Given the description of an element on the screen output the (x, y) to click on. 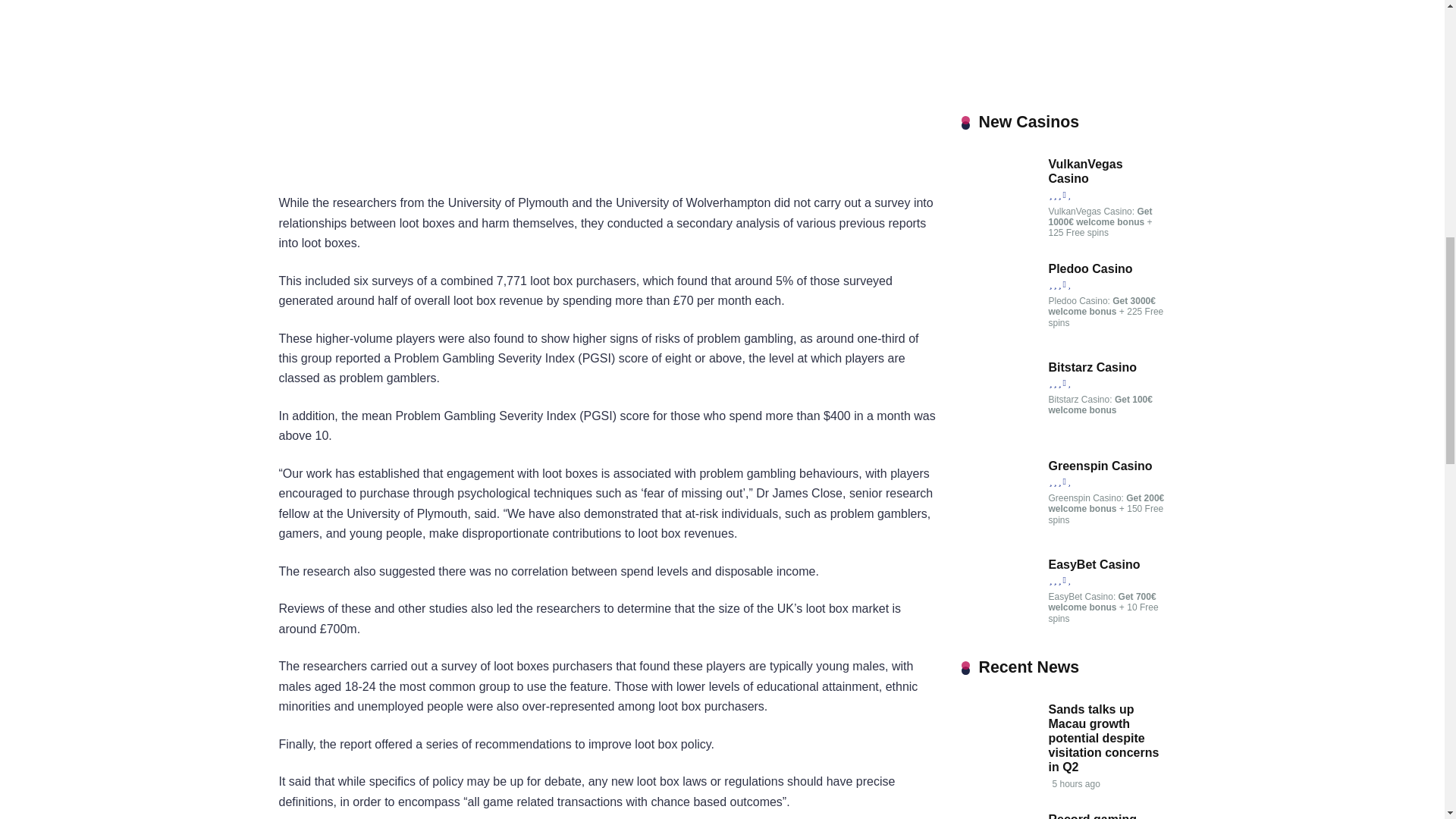
Pledoo Casino (998, 332)
Greenspin Casino (998, 530)
Bitstarz Casino (1091, 367)
VulkanVegas Casino (1085, 171)
VulkanVegas Casino (998, 228)
Pledoo Casino (1090, 269)
Bitstarz Casino (998, 431)
